Given the description of an element on the screen output the (x, y) to click on. 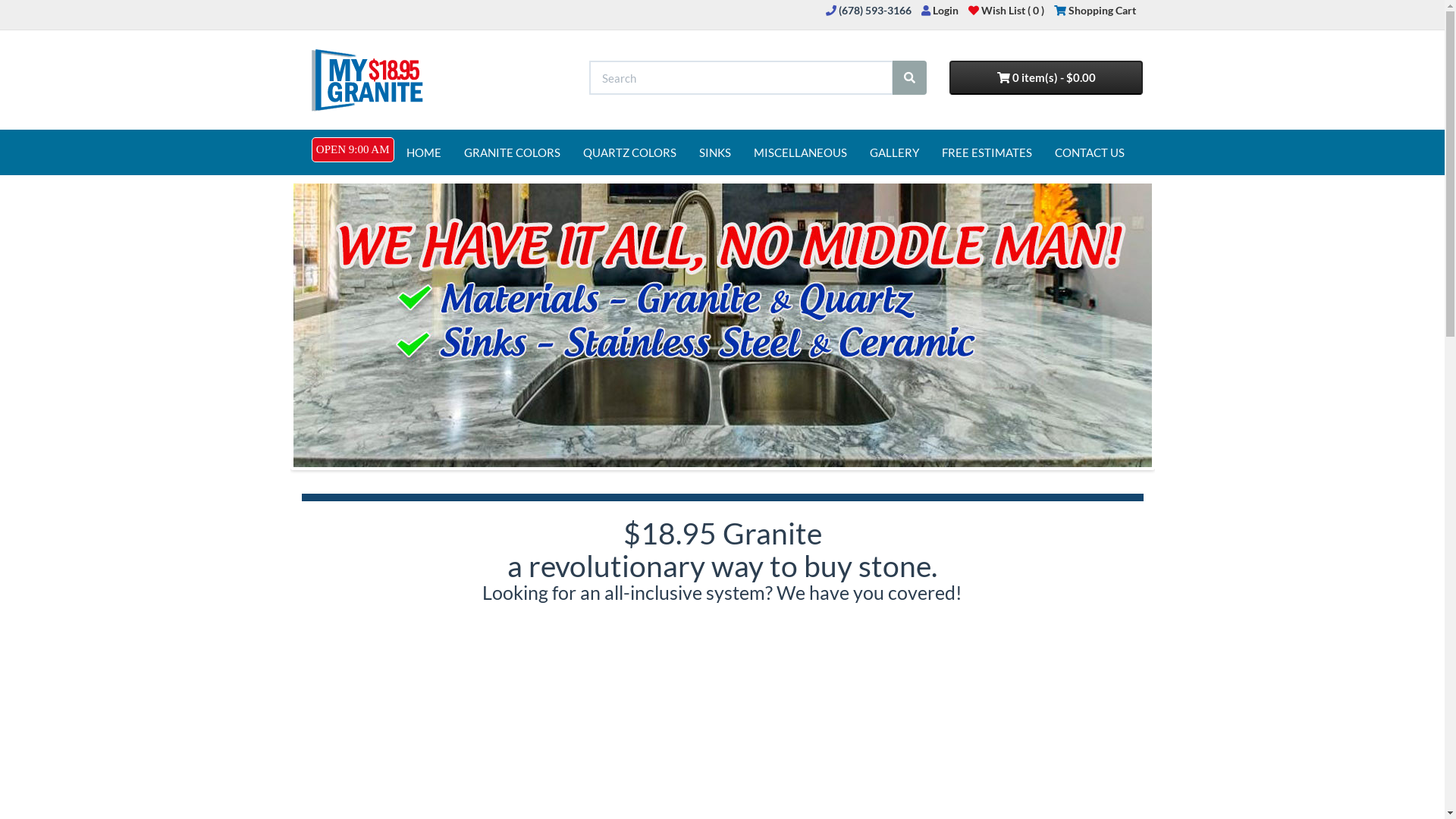
OPEN 9:00 AM Element type: text (352, 149)
0 item(s) - $0.00 Element type: text (1045, 77)
GALLERY Element type: text (894, 152)
Login Element type: text (938, 9)
GRANITE COLORS Element type: text (511, 152)
QUARTZ COLORS Element type: text (629, 152)
SINKS Element type: text (714, 152)
Wish List ( 0 ) Element type: text (1005, 9)
MISCELLANEOUS Element type: text (799, 152)
1895 Granite Element type: hover (365, 79)
FREE ESTIMATES Element type: text (985, 152)
Shopping Cart Element type: text (1094, 9)
HOME Element type: text (422, 152)
CONTACT US Element type: text (1089, 152)
